Given the description of an element on the screen output the (x, y) to click on. 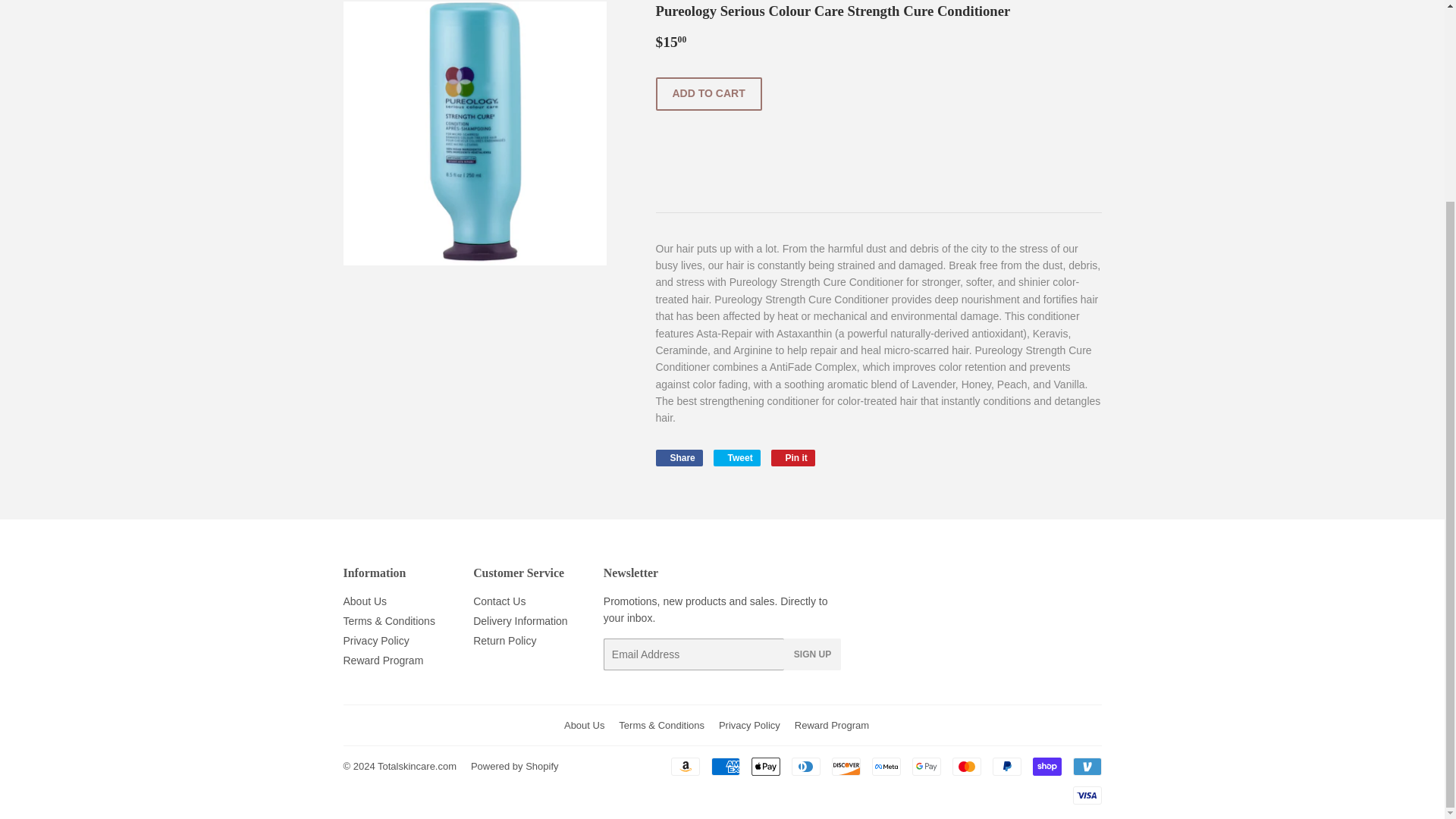
Diners Club (806, 766)
Shop Pay (1046, 766)
Tweet on Twitter (678, 457)
PayPal (736, 457)
American Express (1005, 766)
Privacy Policy (725, 766)
ADD TO CART (793, 457)
About Us (375, 640)
